Given the description of an element on the screen output the (x, y) to click on. 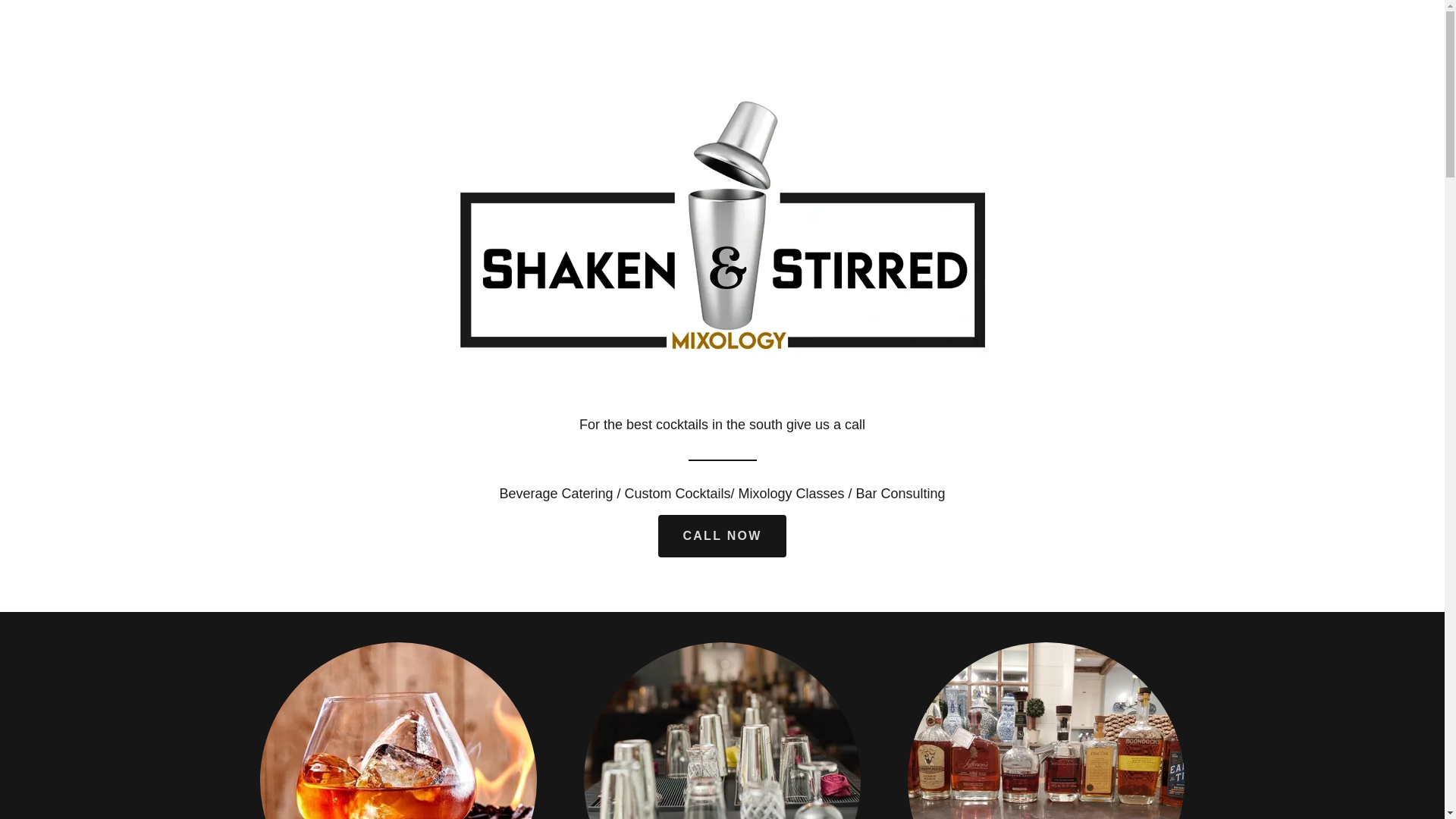
CALL NOW (722, 536)
